Given the description of an element on the screen output the (x, y) to click on. 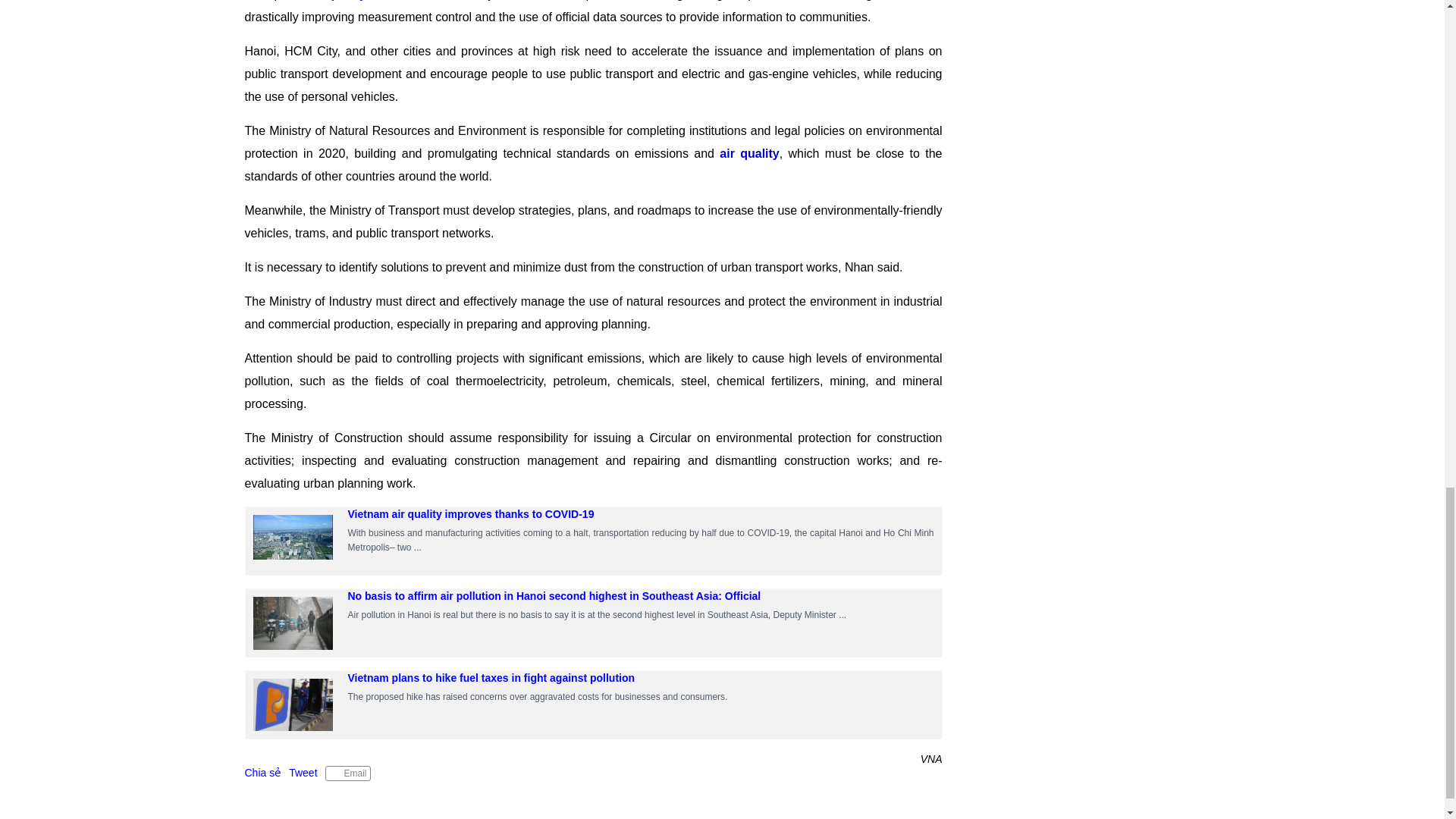
Measures sought to control pollution, improve air quality (293, 537)
Vietnam air quality improves thanks to COVID-19 (470, 513)
air quality (748, 153)
Vietnam plans to hike fuel taxes in fight against pollution (293, 705)
air quality (337, 0)
Vietnam air quality improves thanks to COVID-19 (470, 513)
Vietnam plans to hike fuel taxes in fight against pollution (490, 677)
Vietnam air quality improves thanks to COVID-19 (293, 541)
